Given the description of an element on the screen output the (x, y) to click on. 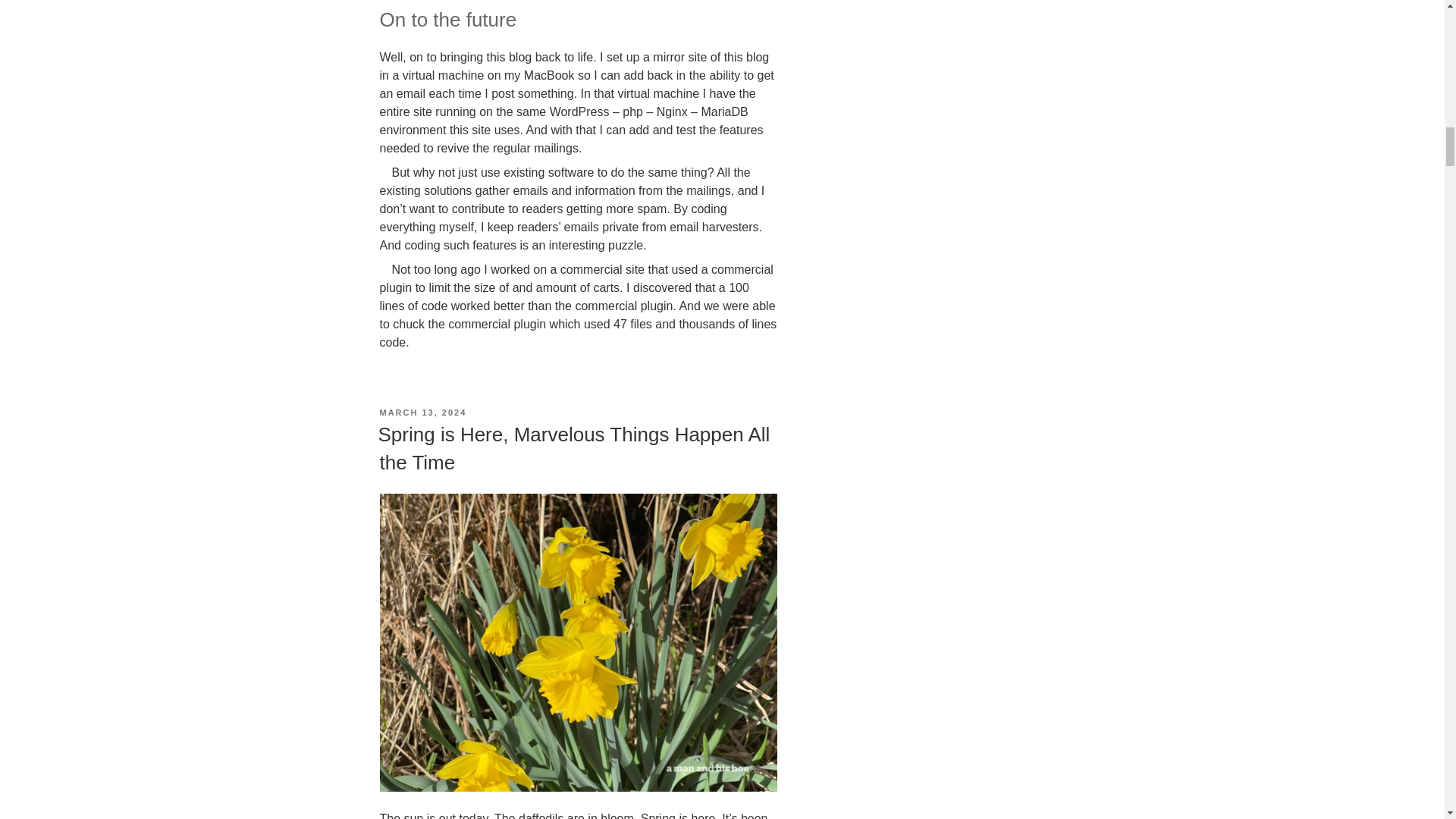
Spring is Here, Marvelous Things Happen All the Time (573, 448)
MARCH 13, 2024 (421, 411)
